Given the description of an element on the screen output the (x, y) to click on. 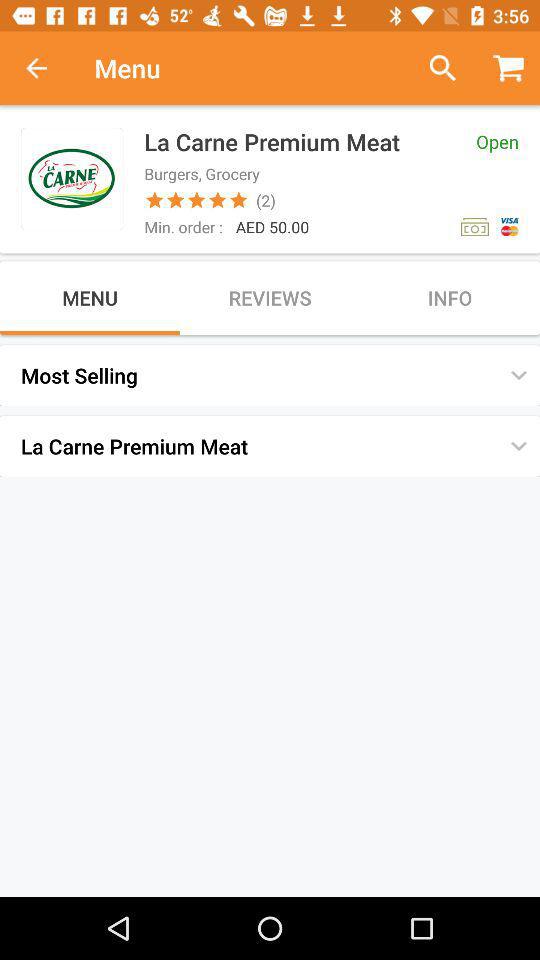
previous (47, 68)
